Given the description of an element on the screen output the (x, y) to click on. 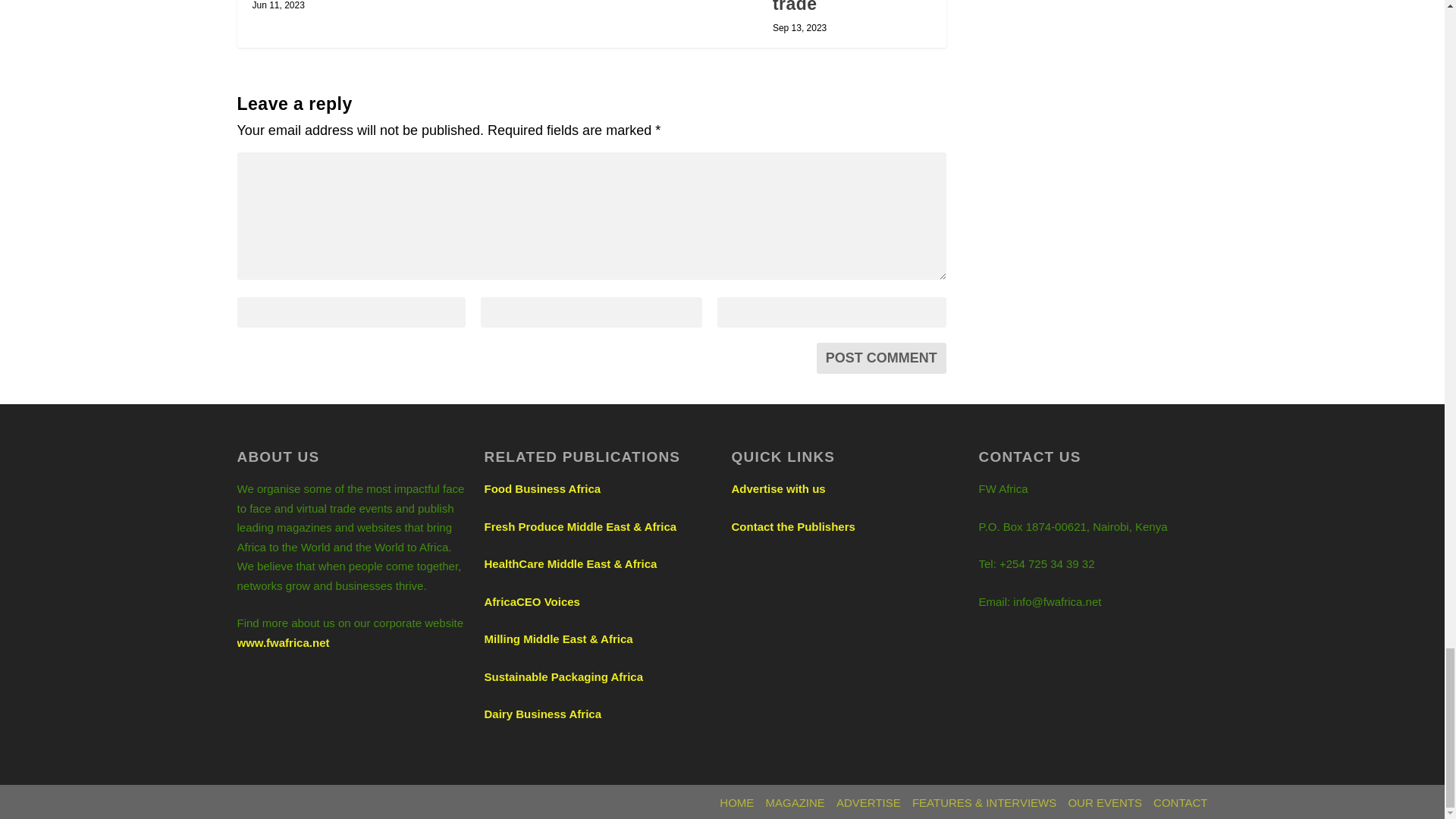
Post Comment (881, 358)
